Given the description of an element on the screen output the (x, y) to click on. 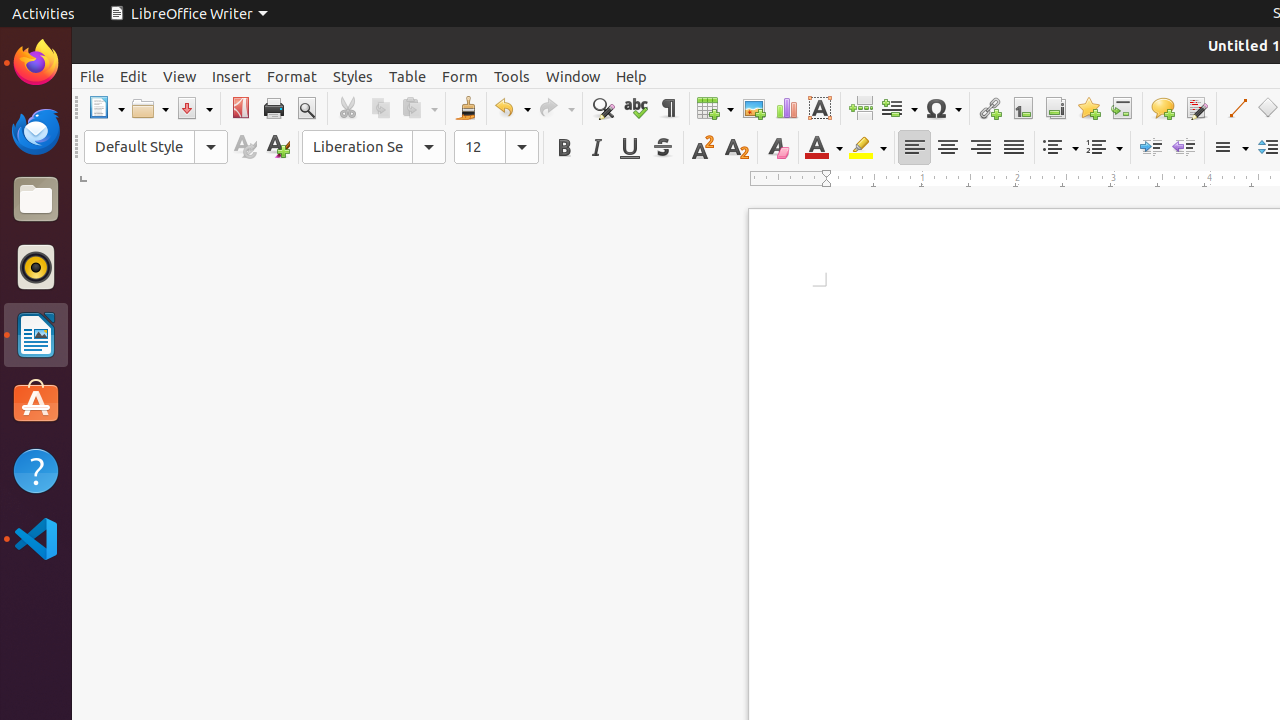
Print Preview Element type: toggle-button (306, 108)
Edit Element type: menu (133, 76)
Table Element type: push-button (715, 108)
Italic Element type: toggle-button (596, 147)
Chart Element type: push-button (786, 108)
